Given the description of an element on the screen output the (x, y) to click on. 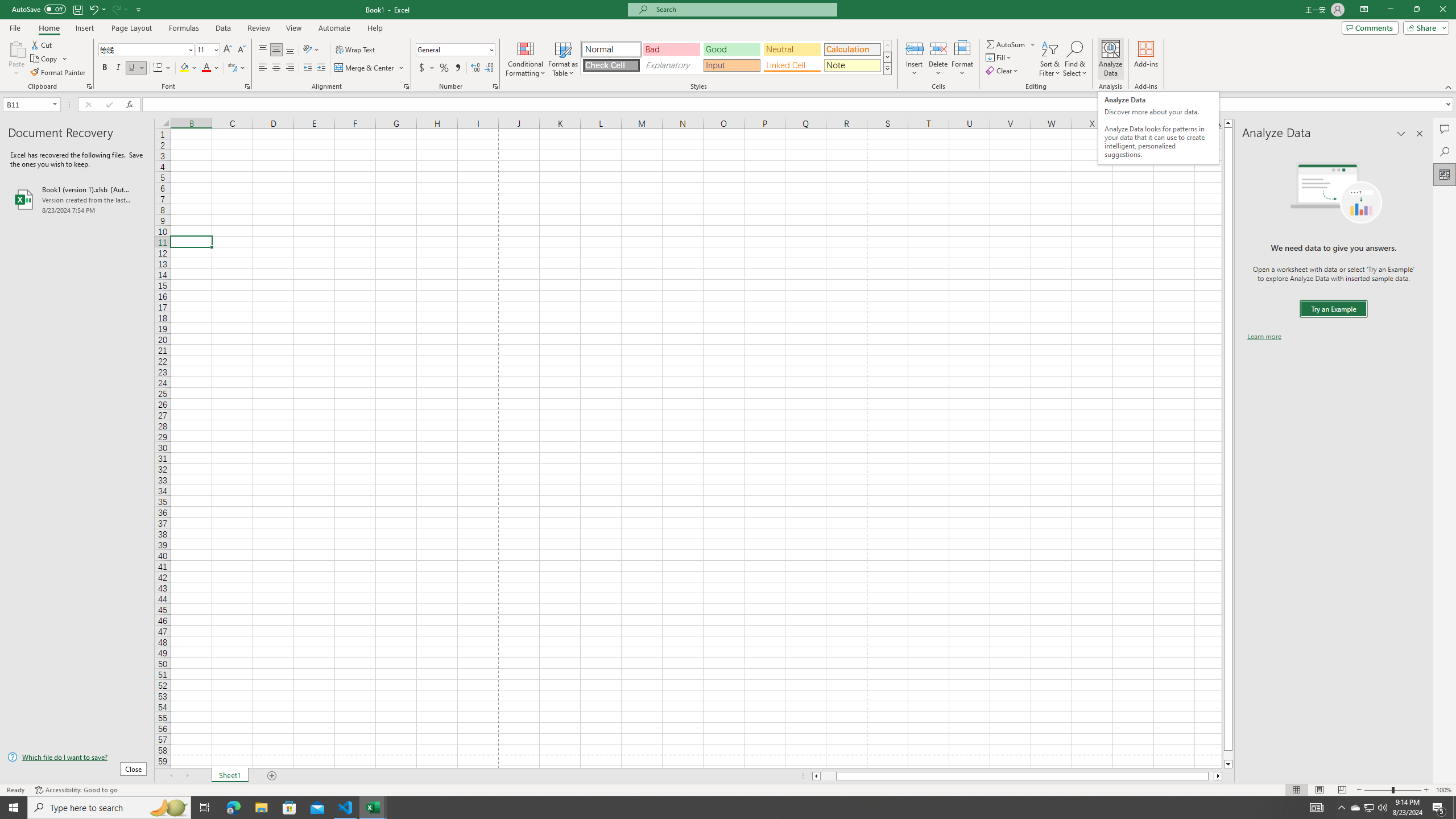
Class: NetUIScrollBar (1016, 775)
Line down (1228, 764)
Redo (115, 9)
Column right (1218, 775)
Calculation (852, 49)
Merge & Center (365, 67)
Line up (1228, 122)
Zoom Out (1377, 790)
Open (54, 104)
Help (374, 28)
Find & Select (1075, 58)
Page down (1228, 755)
Sort & Filter (1049, 58)
Normal (611, 49)
Automate (334, 28)
